Given the description of an element on the screen output the (x, y) to click on. 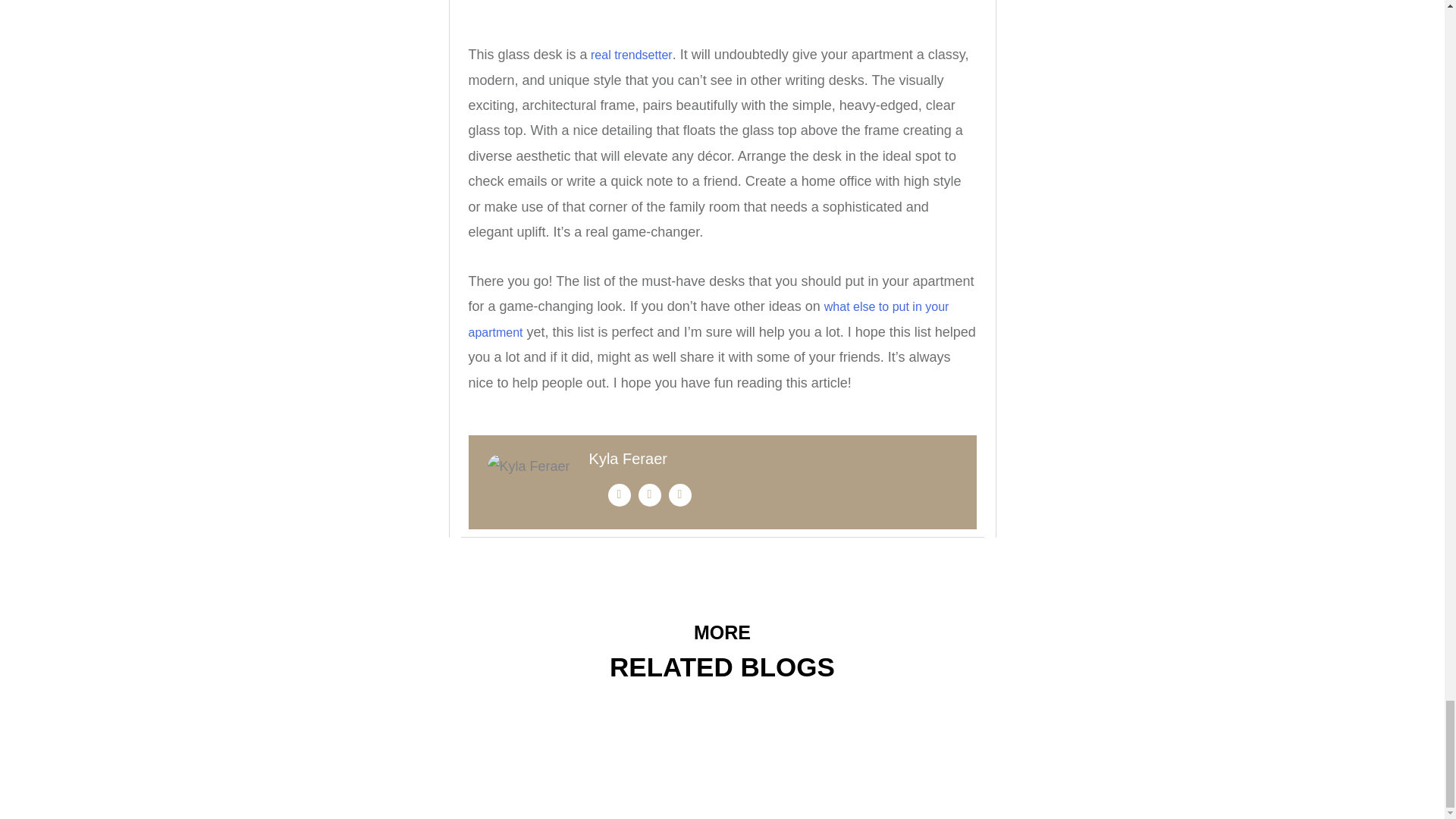
what else to put in your apartment (708, 319)
real trendsetter (630, 54)
